Given the description of an element on the screen output the (x, y) to click on. 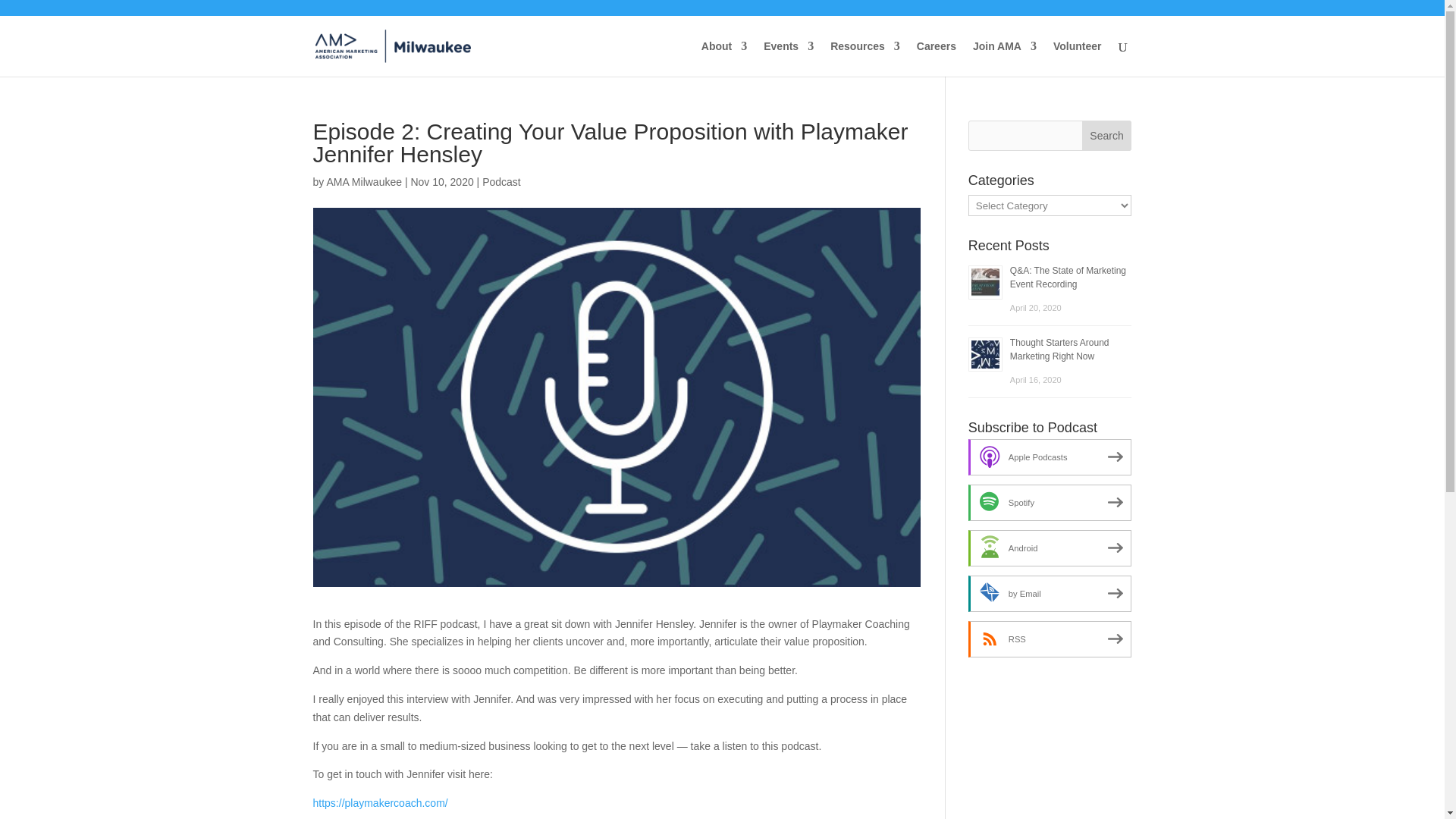
Careers (936, 58)
Subscribe via RSS (1050, 638)
Posts by AMA Milwaukee (363, 182)
Events (787, 58)
AMA Milwaukee (363, 182)
Subscribe on Apple Podcasts (1050, 456)
Resources (864, 58)
Volunteer (1077, 58)
Subscribe by Email (1050, 593)
Podcast (501, 182)
About (723, 58)
Subscribe on Android (1050, 547)
Subscribe on Spotify (1050, 502)
Join AMA (1004, 58)
